Given the description of an element on the screen output the (x, y) to click on. 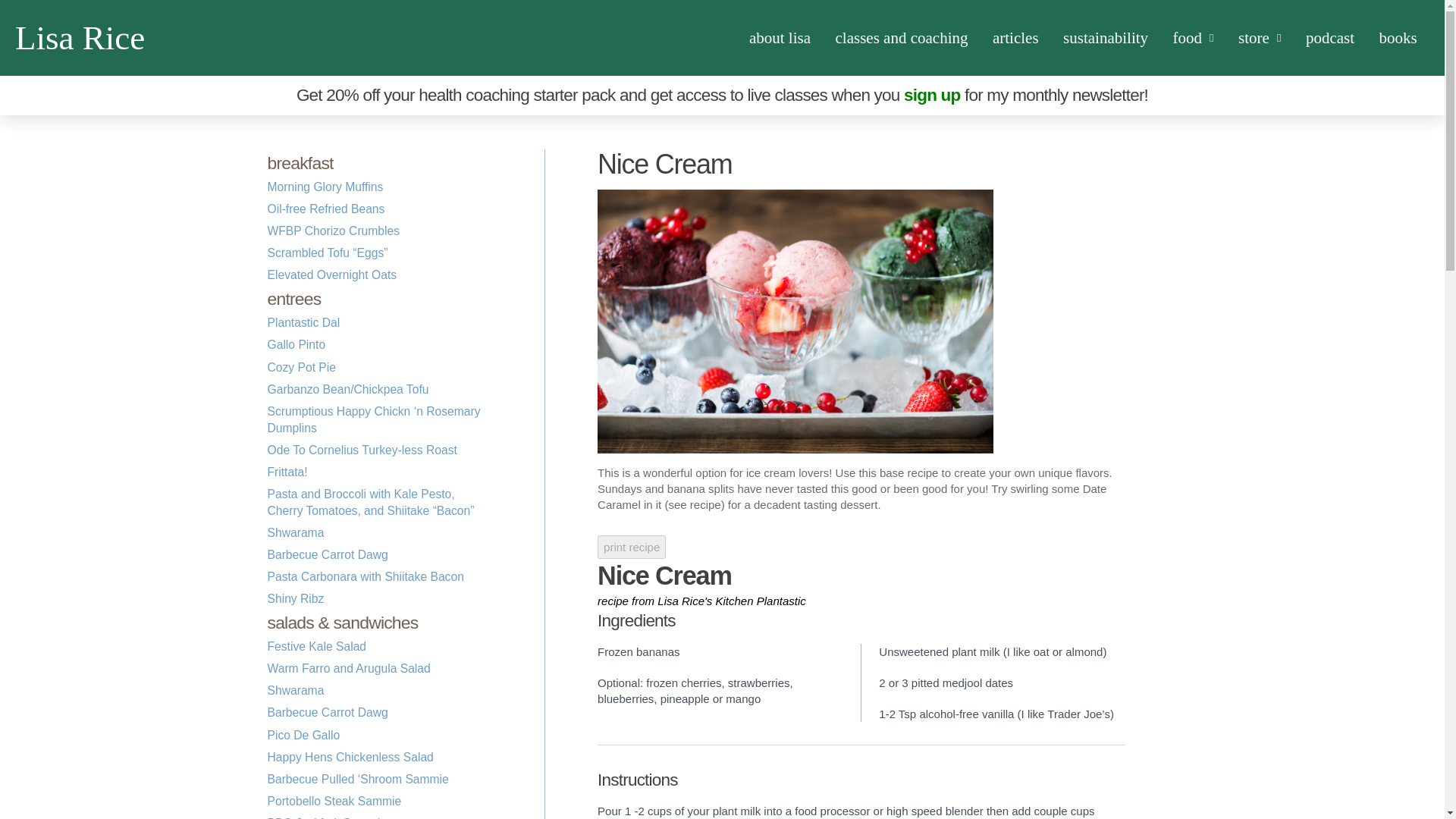
Warm Farro and Arugula Salad (347, 667)
Pasta Carbonara with Shiitake Bacon (364, 576)
Morning Glory Muffins (324, 186)
store (1259, 38)
podcast (1330, 38)
Oil-free Refried Beans (325, 208)
Pico De Gallo (302, 735)
Plantastic Dal (302, 322)
Barbecue Carrot Dawg (326, 554)
sustainability (1105, 38)
sign up (931, 94)
Gallo Pinto (295, 344)
Frittata! (286, 472)
Festive Kale Salad (316, 645)
Shwarama (294, 689)
